Given the description of an element on the screen output the (x, y) to click on. 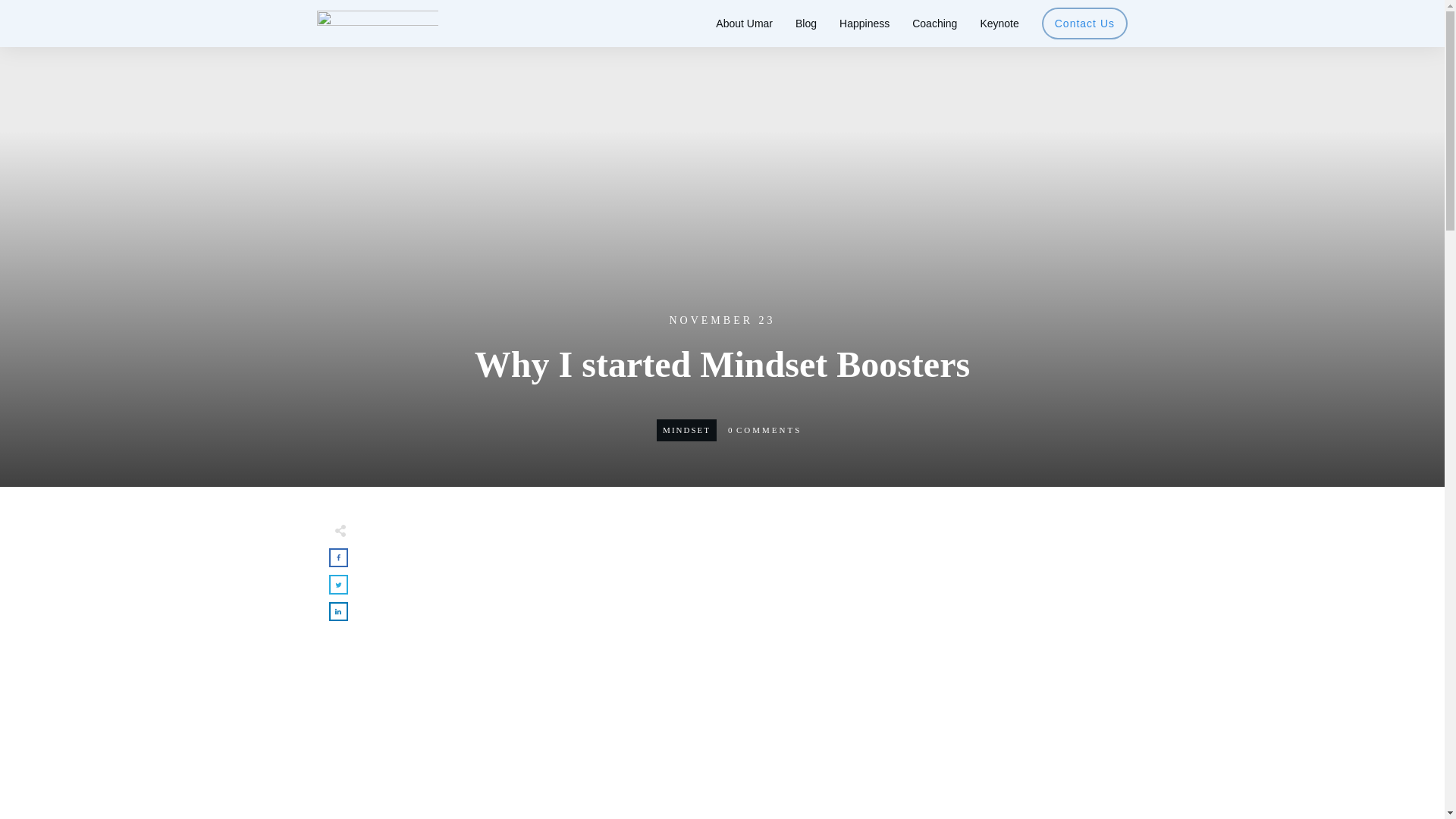
Mindset (686, 429)
About Umar (744, 23)
MINDSET (686, 429)
Happiness (864, 23)
Blog (805, 23)
Coaching (934, 23)
Contact Us (1084, 23)
Keynote (998, 23)
